Given the description of an element on the screen output the (x, y) to click on. 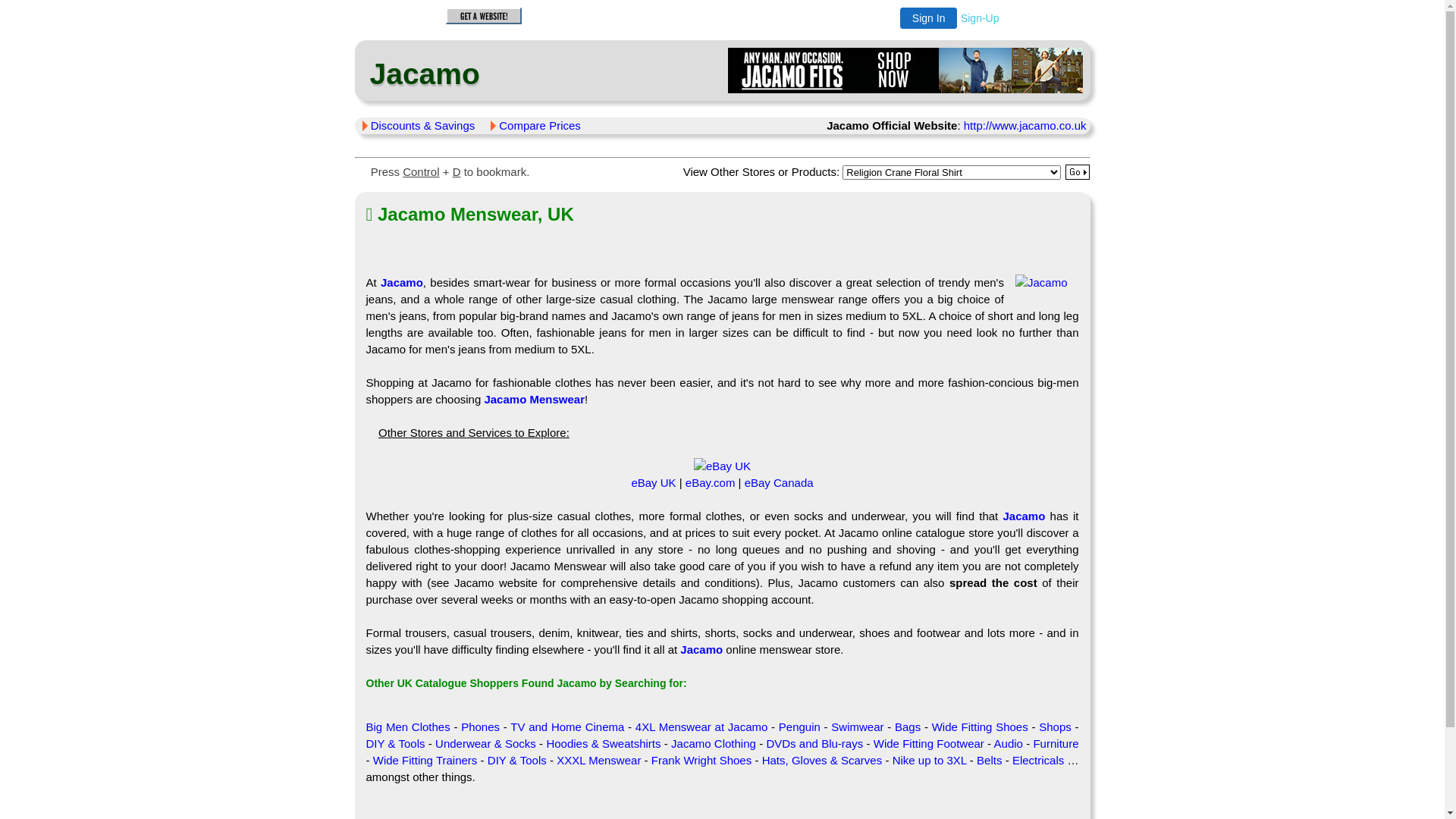
Jacamo Element type: text (401, 282)
Jacamo Element type: hover (905, 70)
Compare Prices Element type: text (539, 125)
Discounts & Savings Element type: text (422, 125)
Jacamo Element type: text (701, 649)
Other Stores and Services to Explore: Element type: text (473, 432)
Sign-Up Element type: text (979, 18)
Other UK Catalogue Element type: text (415, 683)
Sign In Element type: text (928, 17)
Jacamo Element type: text (421, 74)
Go Element type: text (1077, 171)
http://www.jacamo.co.uk Element type: text (1024, 125)
eBay UK Element type: hover (721, 465)
eBay Canada Element type: text (778, 482)
Jacamo Element type: text (1023, 515)
Jacamo Menswear Element type: text (533, 398)
eBay UK Element type: text (652, 482)
eBay.com Element type: text (710, 482)
Save on shopping with Jacamo Element type: hover (1041, 282)
